Given the description of an element on the screen output the (x, y) to click on. 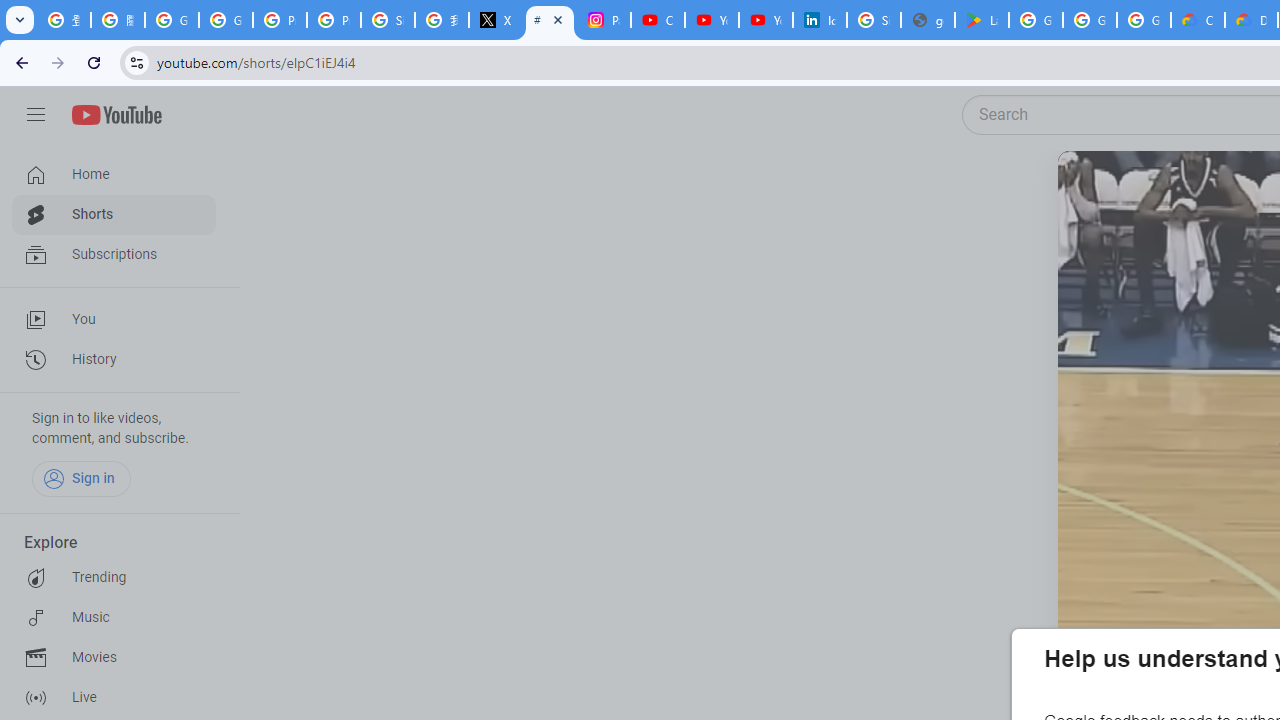
Play (k) (1097, 191)
Home (113, 174)
History (113, 359)
Mute (1161, 191)
Google Workspace - Specific Terms (1089, 20)
Last Shelter: Survival - Apps on Google Play (981, 20)
